Given the description of an element on the screen output the (x, y) to click on. 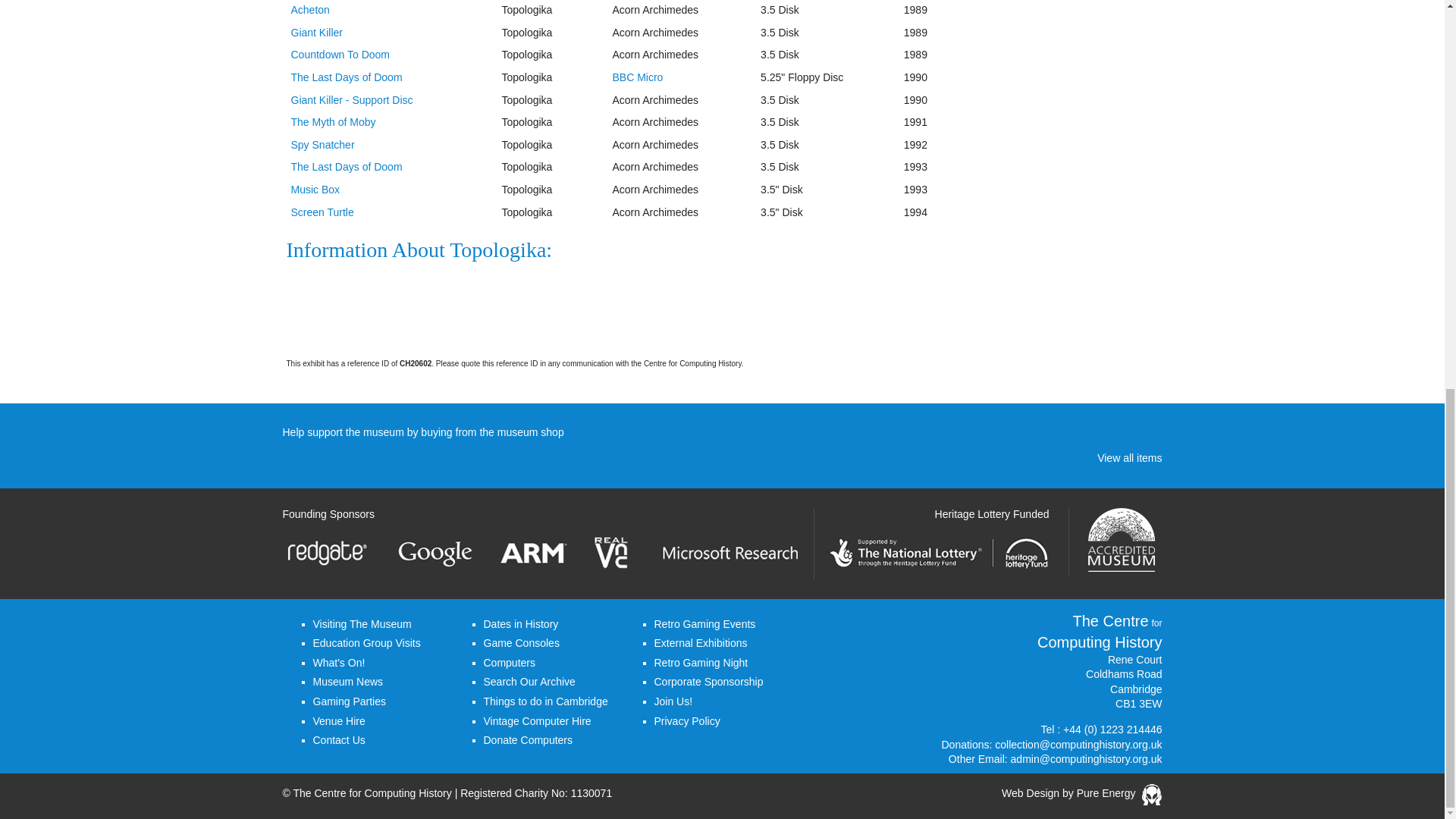
Vintage Computer Hire (537, 720)
